Given the description of an element on the screen output the (x, y) to click on. 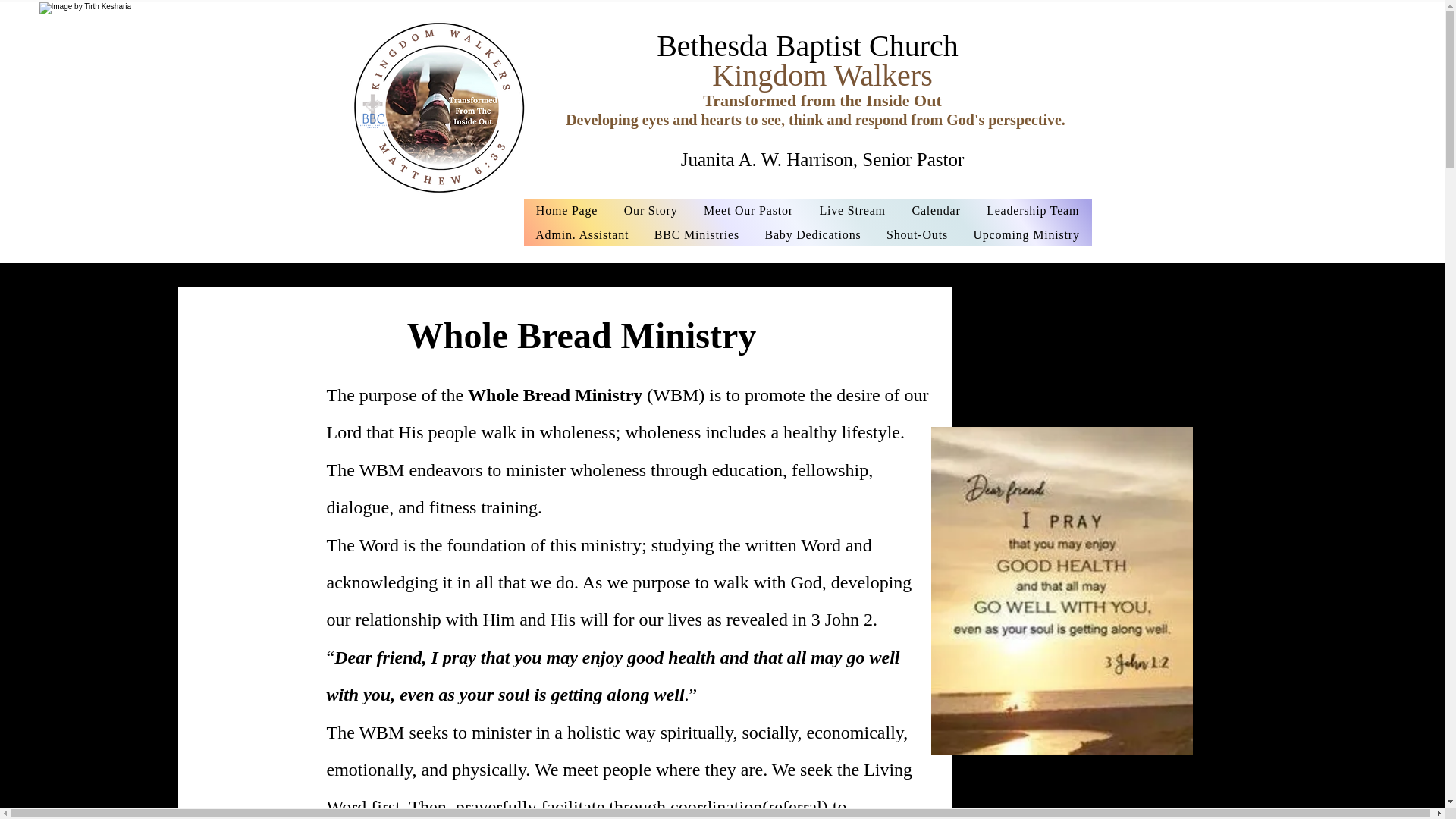
Leadership Team (1033, 210)
Baby Dedications (812, 234)
Shout-Outs (917, 234)
Admin. Assistant (581, 234)
Meet Our Pastor (748, 210)
Calendar (935, 210)
Our Story (649, 210)
Live Stream (852, 210)
Home Page (566, 210)
BBC Ministries (696, 234)
Upcoming Ministry (1026, 234)
